Given the description of an element on the screen output the (x, y) to click on. 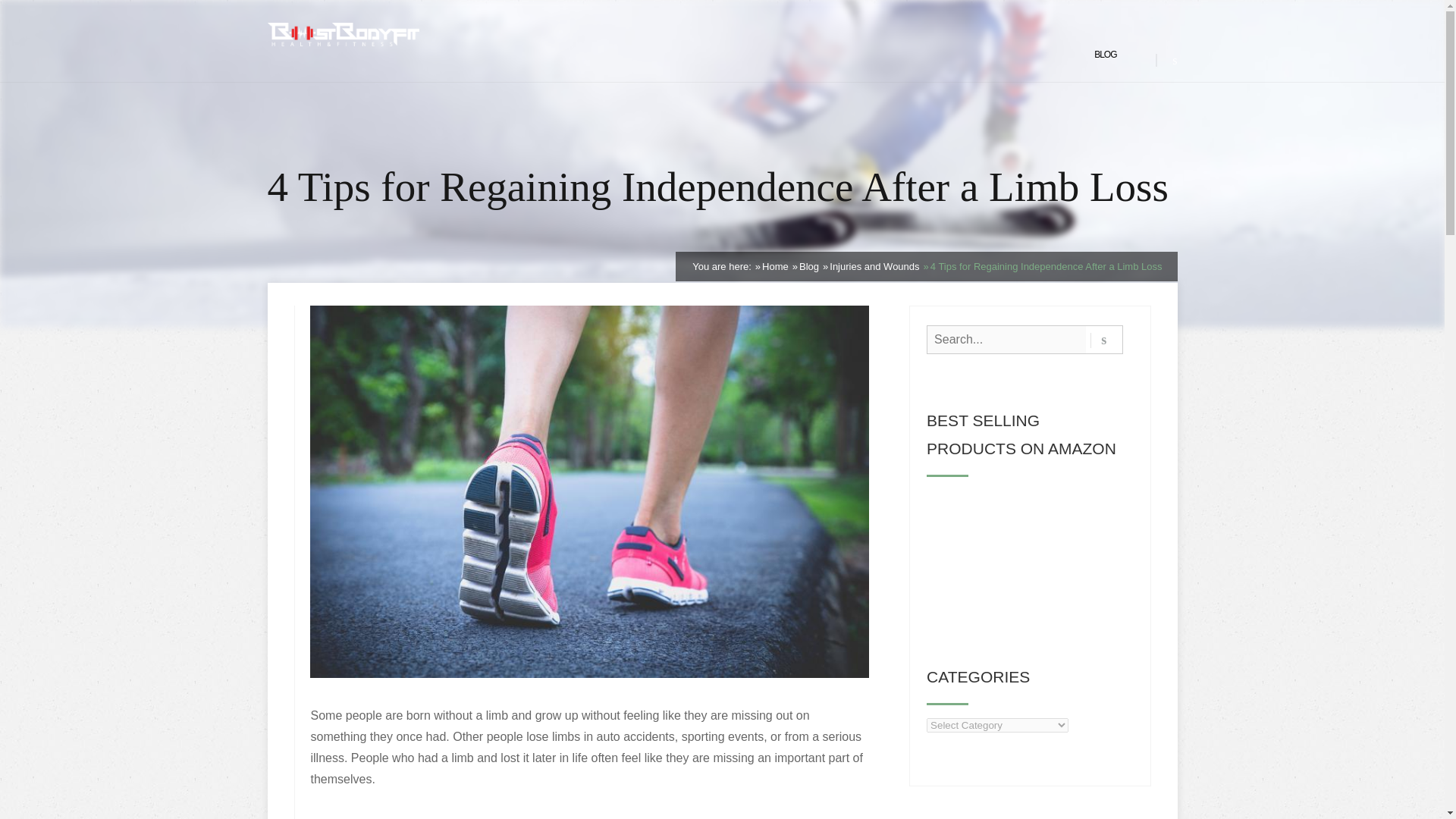
Blog (808, 266)
Injuries and Wounds (873, 266)
Home (775, 266)
BLOG (1105, 54)
